Given the description of an element on the screen output the (x, y) to click on. 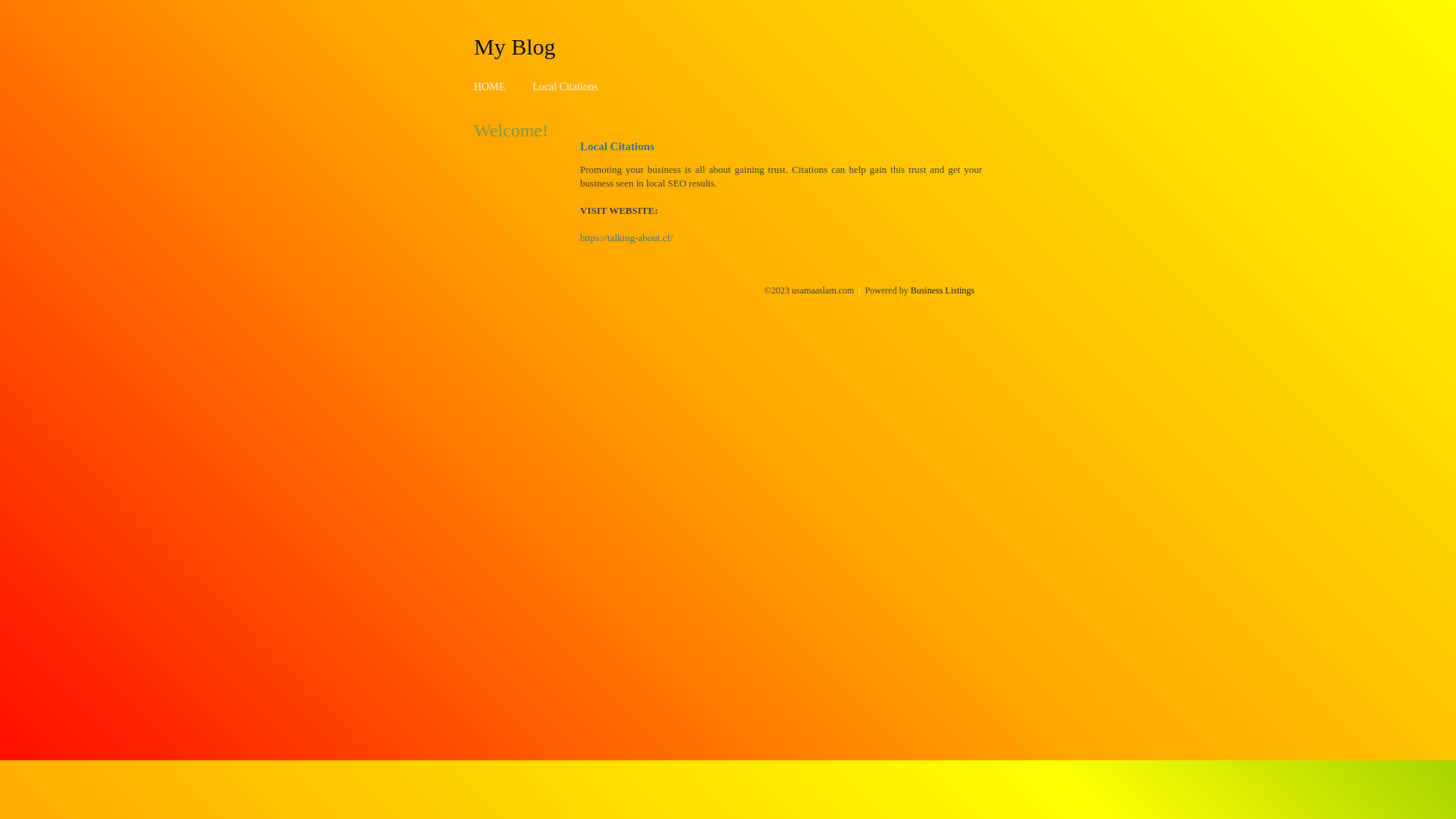
Business Listings Element type: text (942, 290)
HOME Element type: text (489, 86)
https://talking-about.cf/ Element type: text (626, 237)
Local Citations Element type: text (564, 86)
My Blog Element type: text (514, 46)
